Given the description of an element on the screen output the (x, y) to click on. 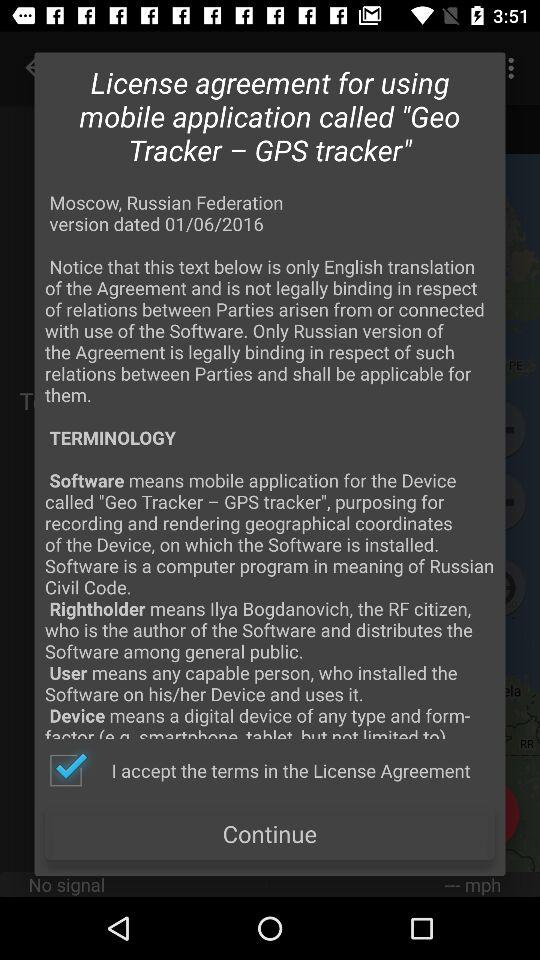
click app above i accept the app (270, 464)
